Given the description of an element on the screen output the (x, y) to click on. 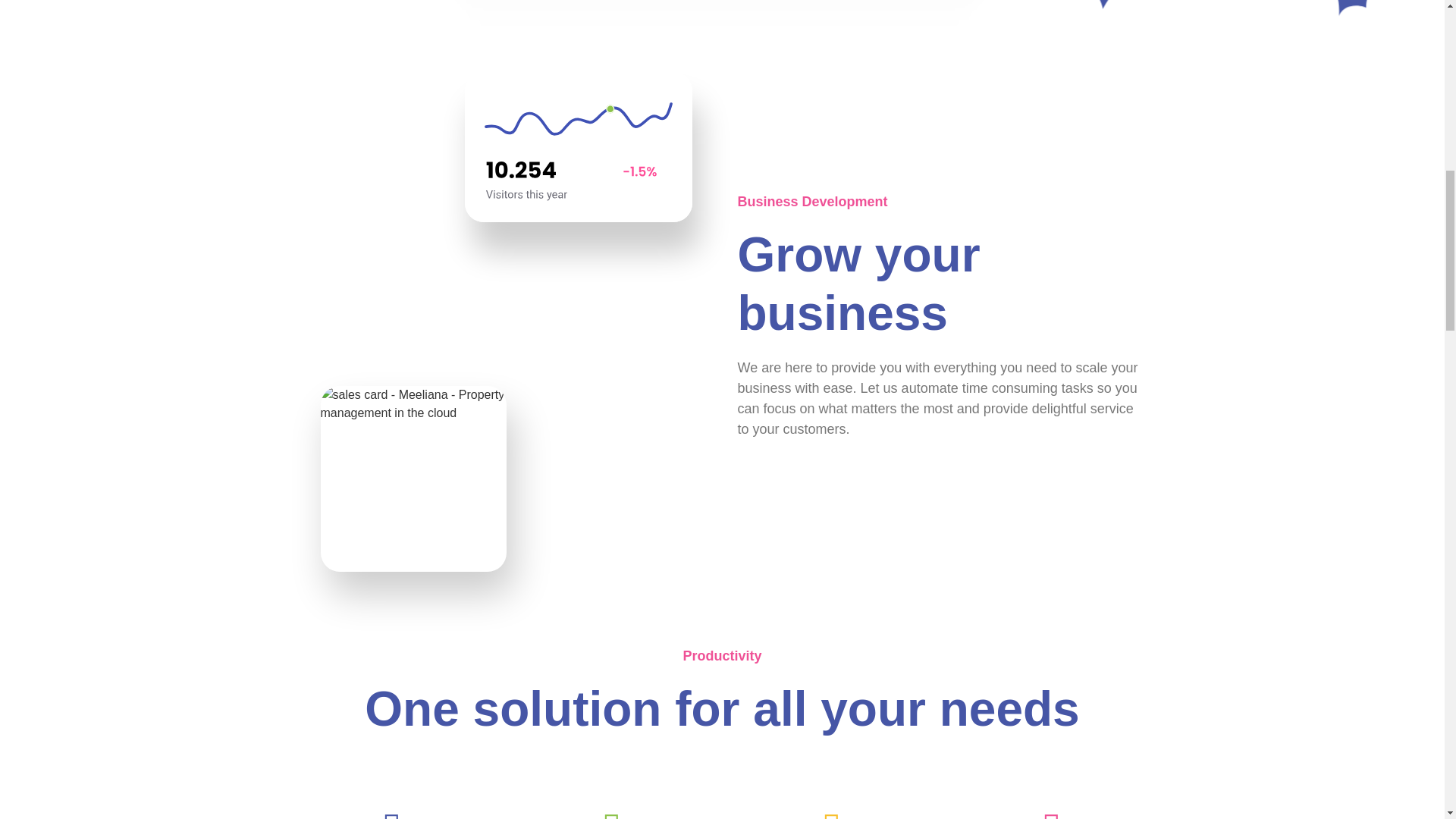
Home 6 (412, 478)
Home 4 (577, 146)
Home 3 (721, 13)
